Given the description of an element on the screen output the (x, y) to click on. 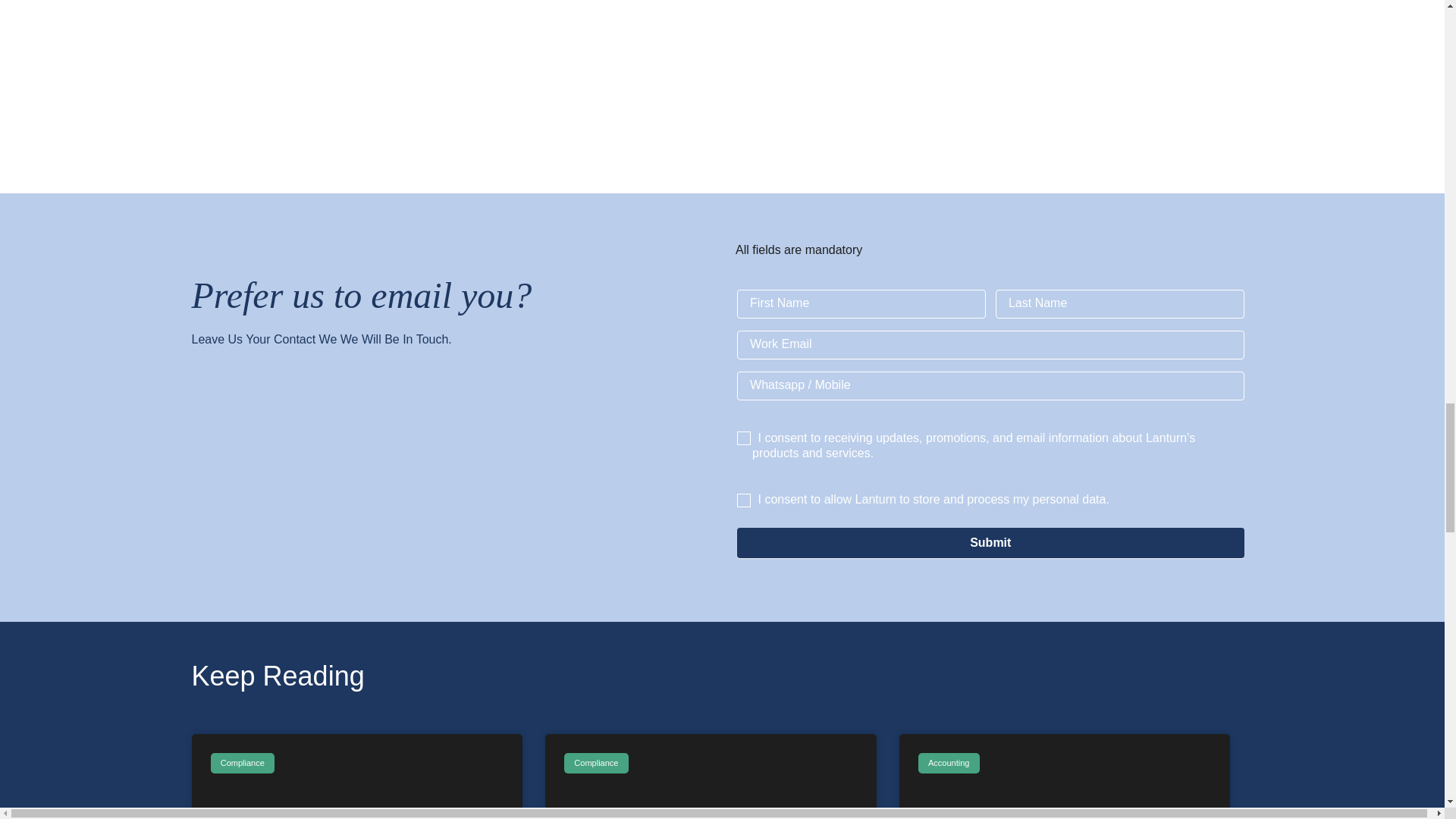
blog-form-img (447, 470)
